Given the description of an element on the screen output the (x, y) to click on. 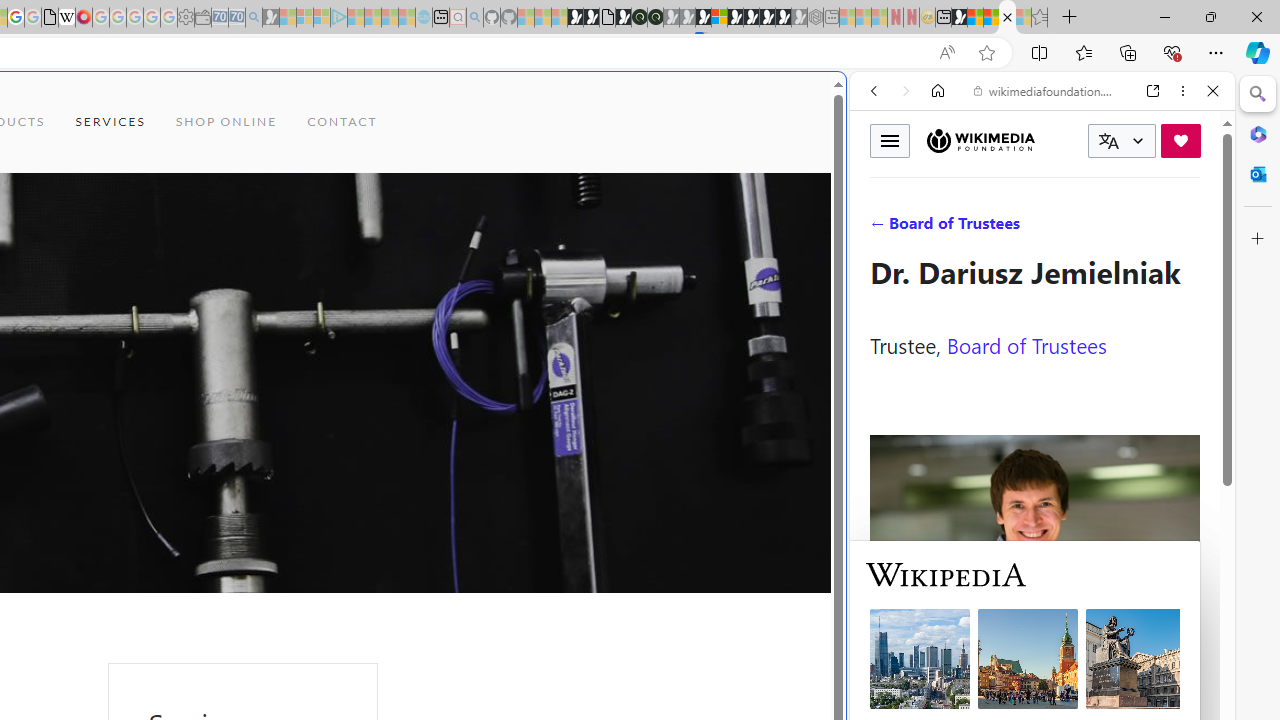
IMAGES (939, 228)
Cheap Car Rentals - Save70.com - Sleeping (236, 17)
Wikimedia Foundation (980, 140)
Class: b_serphb (1190, 229)
Donate now (1180, 140)
Target page - Wikipedia (66, 17)
Home | Sky Blue Bikes - Sky Blue Bikes - Sleeping (424, 17)
MSN (959, 17)
